Given the description of an element on the screen output the (x, y) to click on. 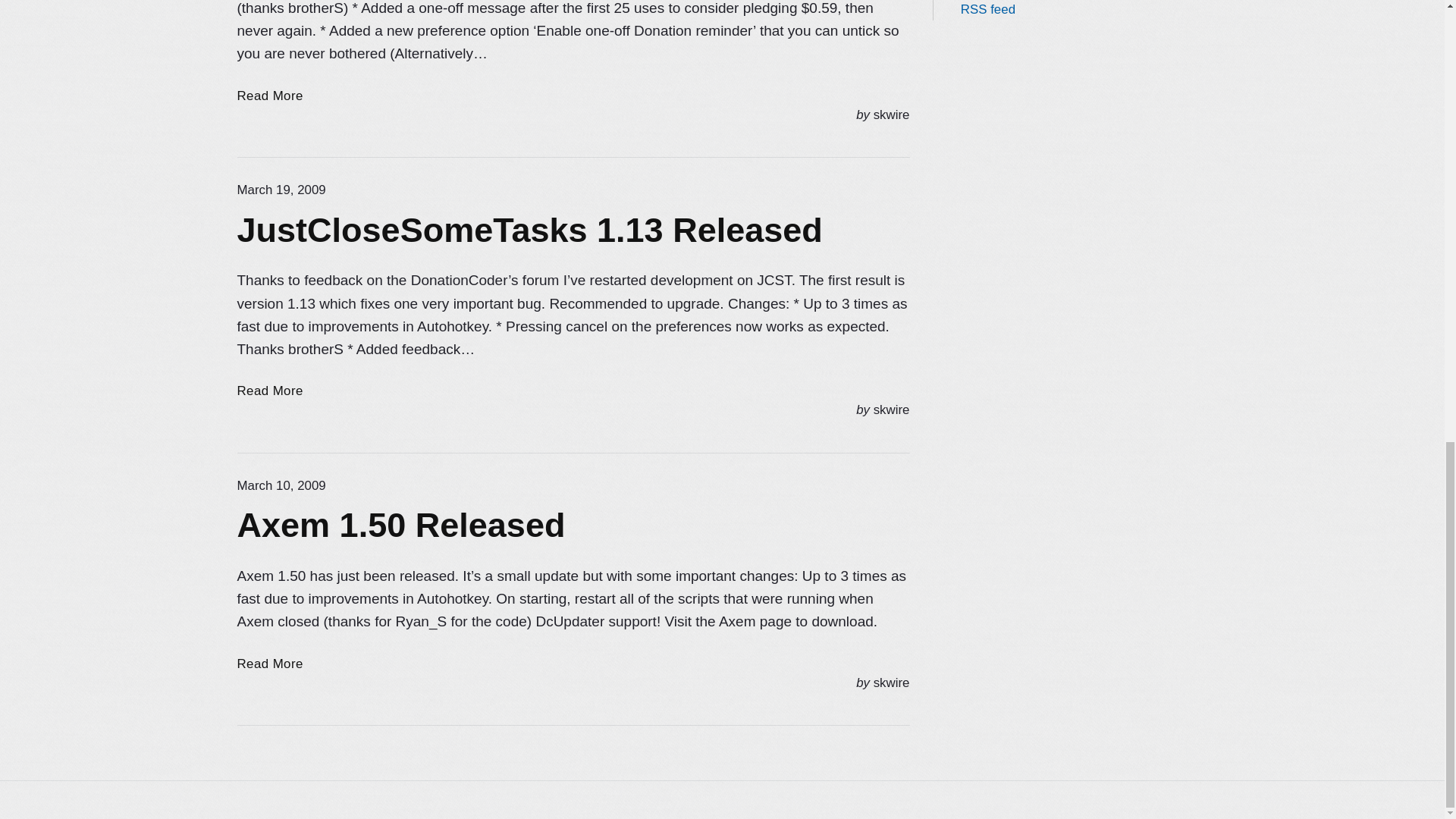
Tuesday, March 10, 2009, 4:00 am (279, 485)
Axem 1.50 Released (399, 525)
Posts by skwire (891, 409)
Axem 1.50 Released (268, 663)
skwire (268, 391)
JustCloseSomeTasks 1.13 Released (891, 114)
Posts by skwire (268, 391)
Thursday, March 19, 2009, 12:02 am (891, 114)
skwire (279, 189)
